Given the description of an element on the screen output the (x, y) to click on. 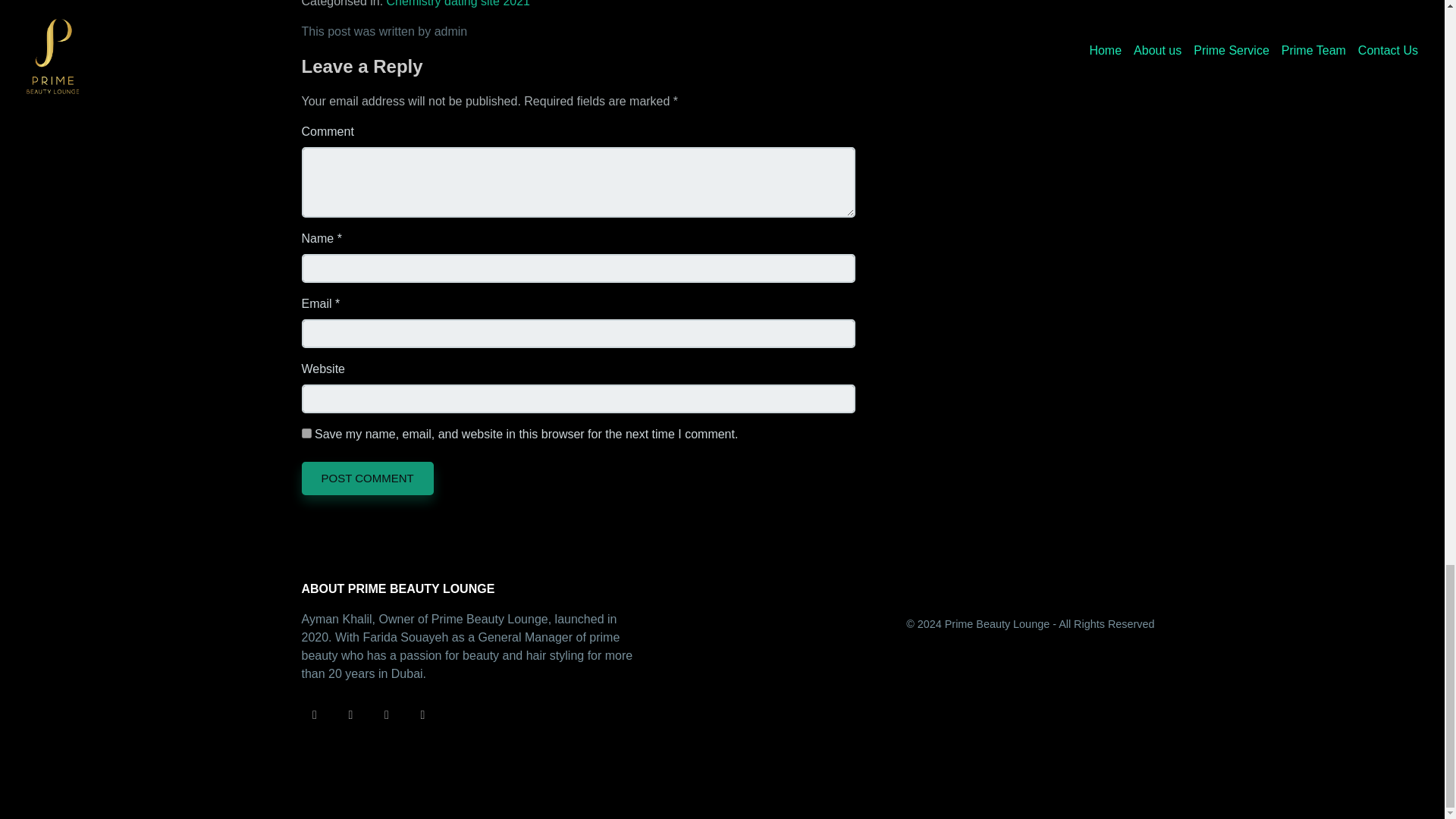
Chemistry dating site 2021 (458, 3)
yes (306, 433)
Post Comment (367, 478)
Post Comment (367, 478)
